Given the description of an element on the screen output the (x, y) to click on. 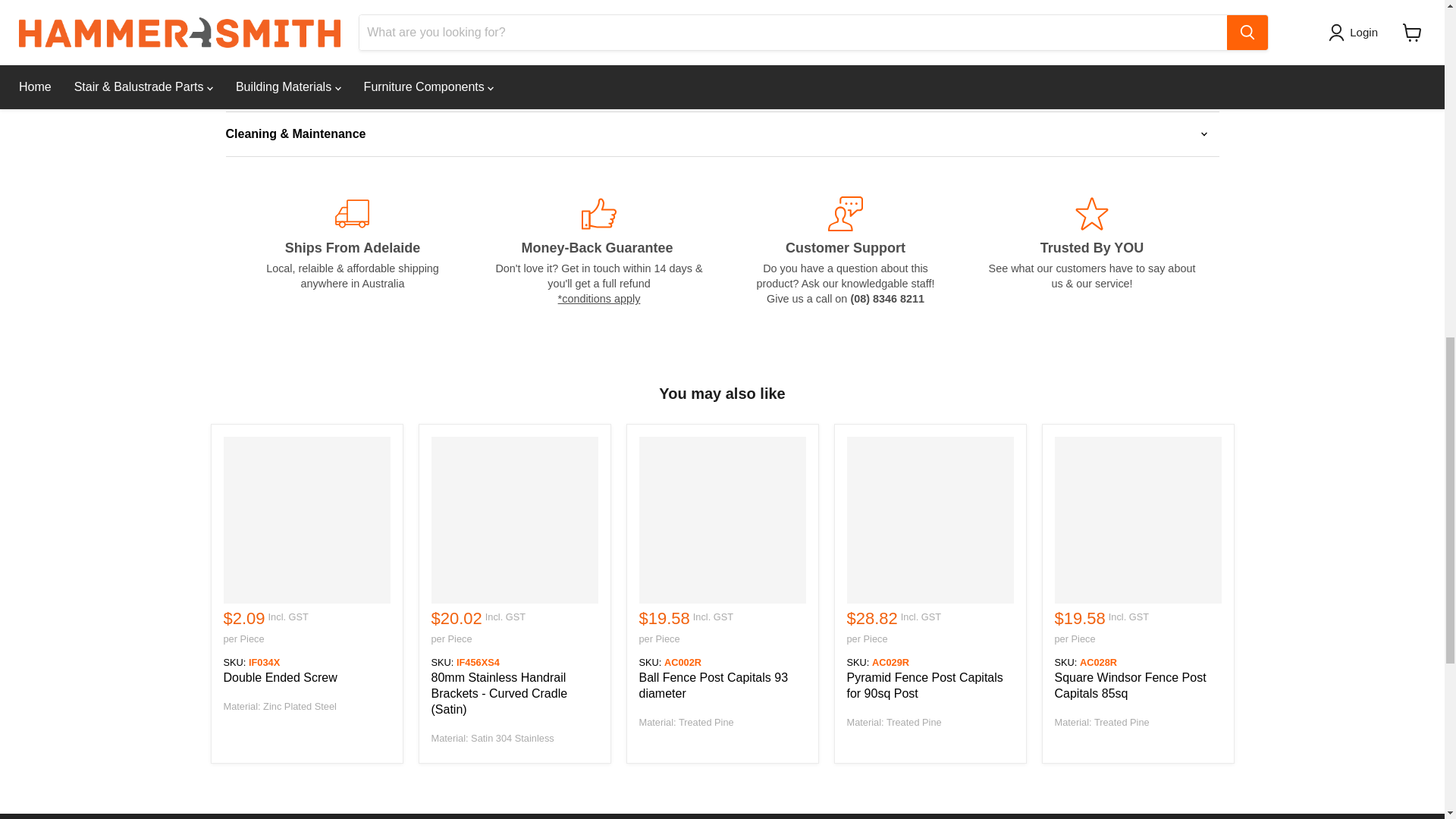
Refund Policy (598, 298)
